Given the description of an element on the screen output the (x, y) to click on. 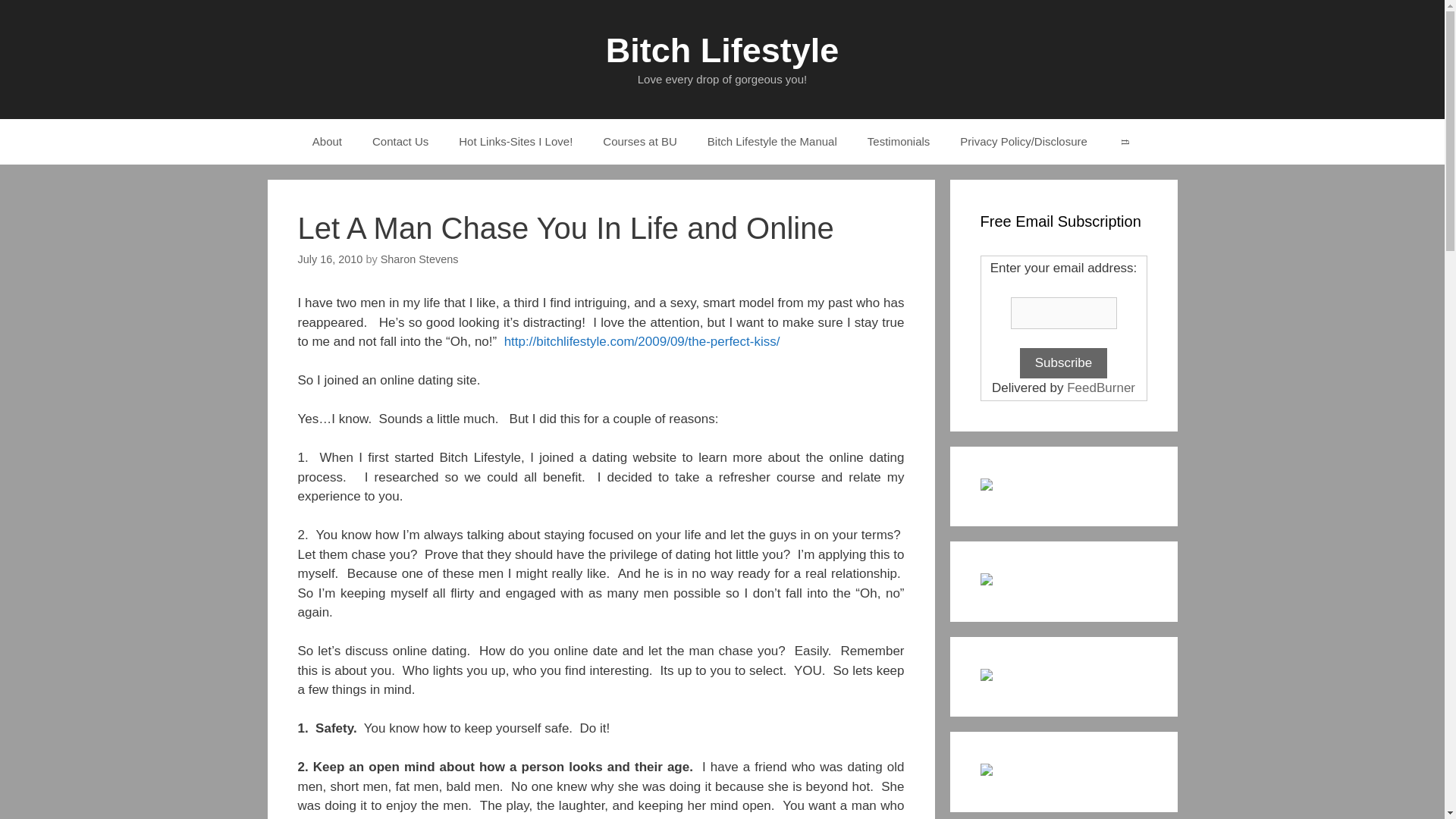
Bitch Lifestyle the Manual (772, 140)
Testimonials (897, 140)
Search (1124, 140)
About (326, 140)
Sharon Stevens (419, 259)
2:28 pm (329, 259)
Subscribe (1064, 363)
Subscribe (1064, 363)
Hot Links-Sites I Love! (516, 140)
View all posts by Sharon Stevens (419, 259)
July 16, 2010 (329, 259)
Search (1124, 140)
Courses at BU (640, 140)
Bitch Lifestyle (722, 50)
Contact Us (400, 140)
